Given the description of an element on the screen output the (x, y) to click on. 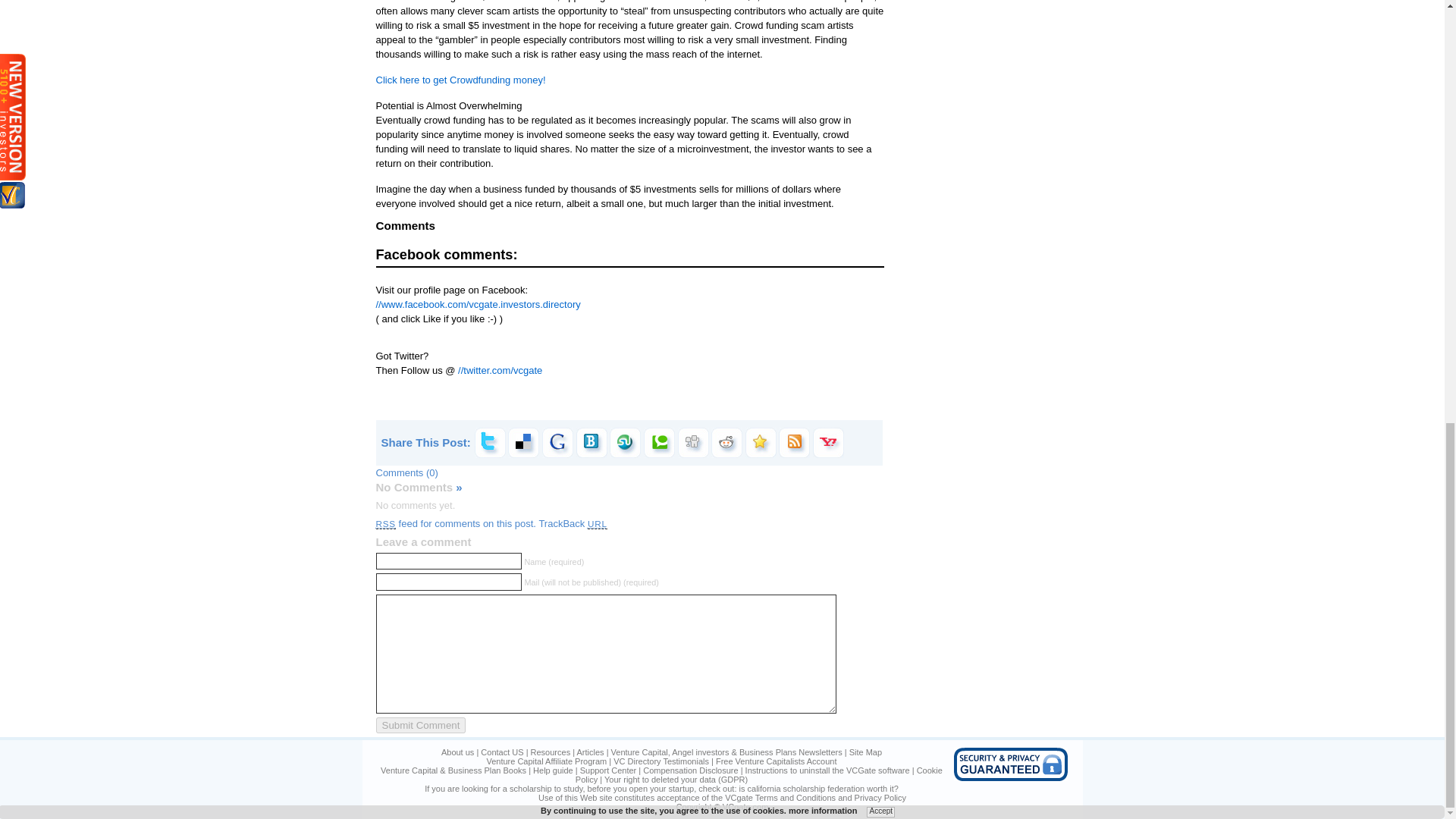
Submit Comment (420, 725)
Click here to get Crowdfunding money! (460, 79)
TrackBack URL (572, 523)
RSS feed for comments on this post. (455, 523)
